Given the description of an element on the screen output the (x, y) to click on. 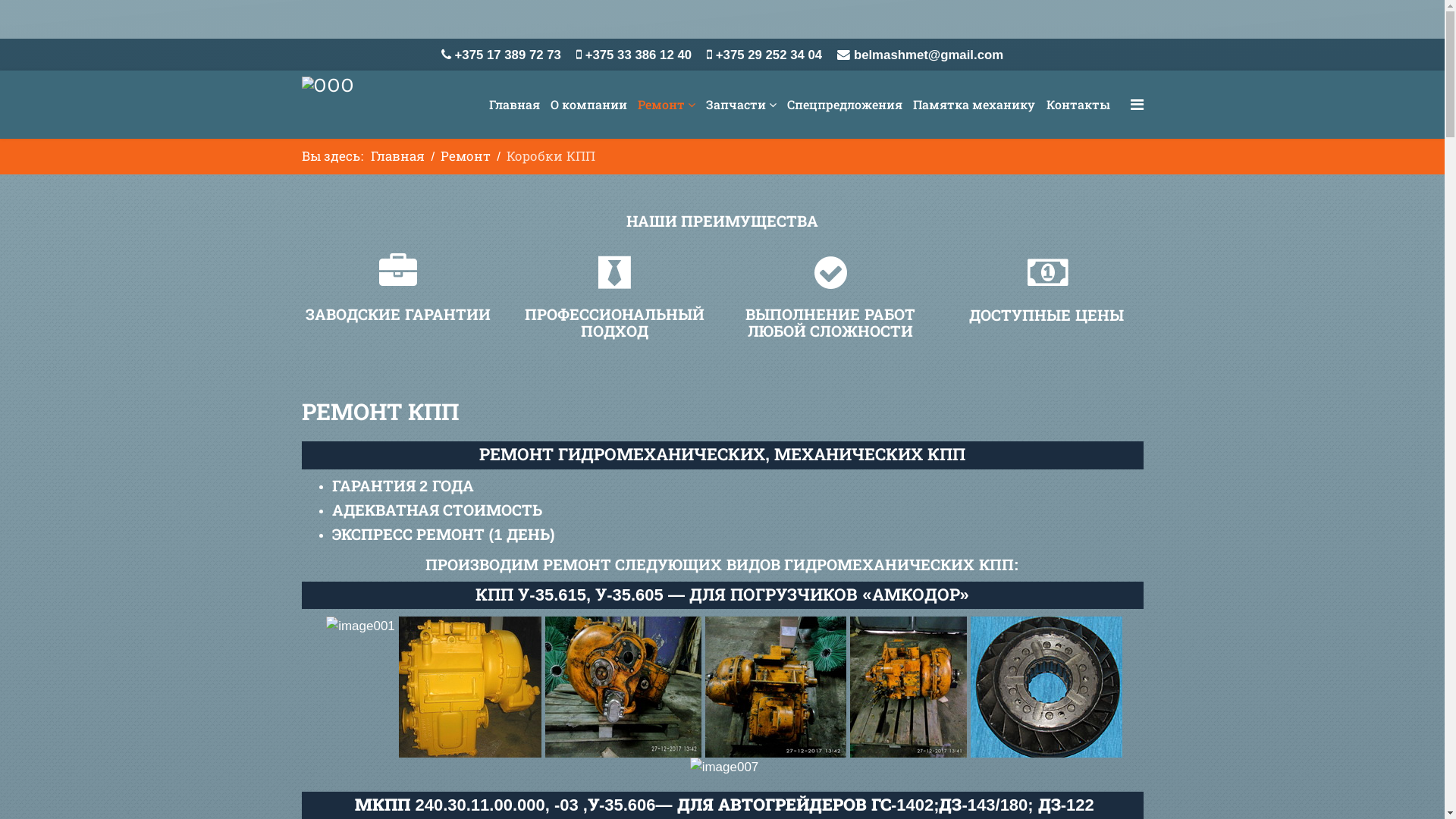
belmashmet@gmail.com Element type: text (928, 54)
+375 33 386 12 40 Element type: text (638, 54)
+375 29 252 34 04 Element type: text (768, 54)
+375 17 389 72 73 Element type: text (508, 54)
Navigation Element type: hover (1135, 104)
